Given the description of an element on the screen output the (x, y) to click on. 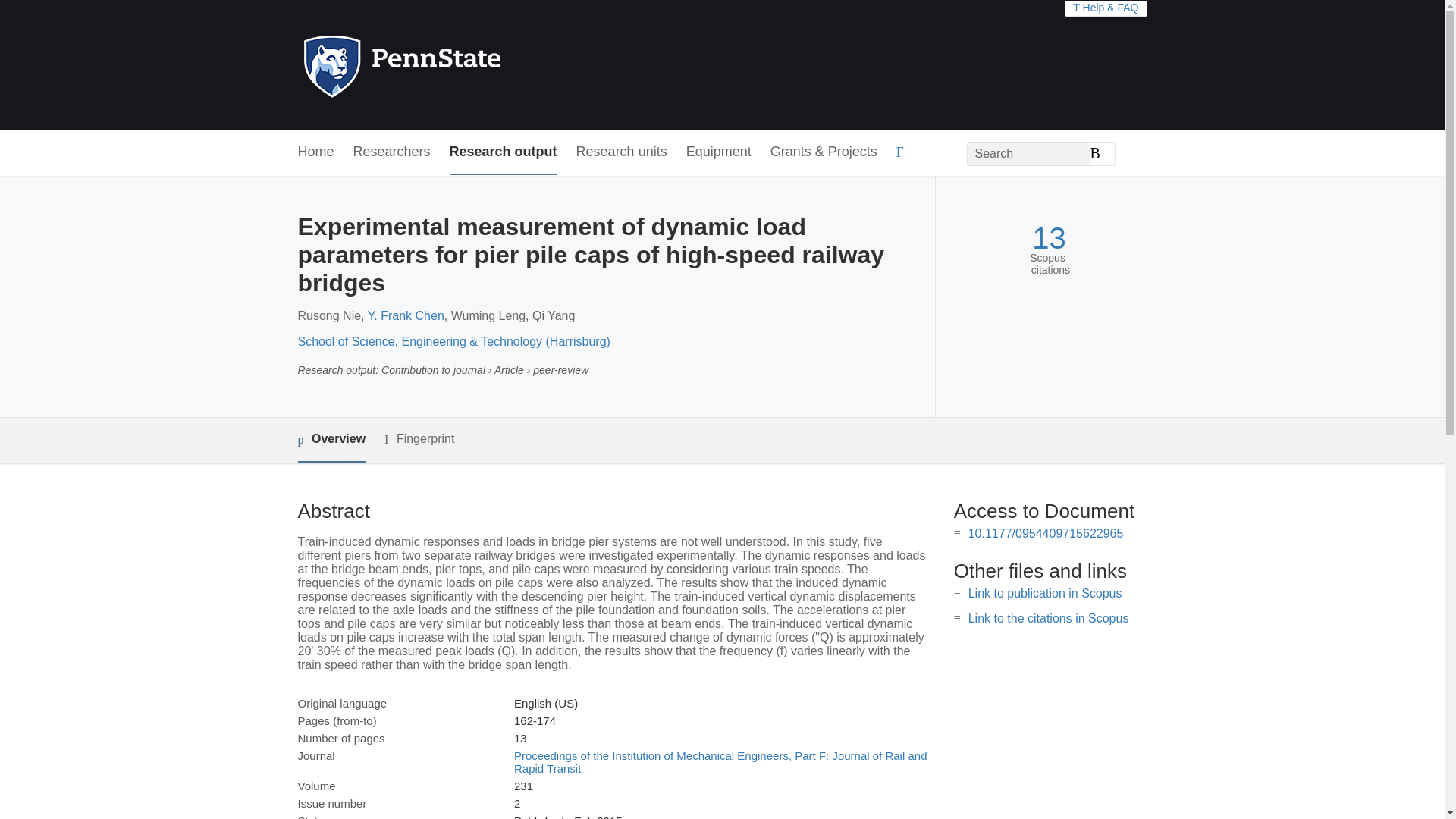
Link to the citations in Scopus (1048, 617)
Equipment (718, 152)
Research units (621, 152)
Y. Frank Chen (406, 315)
Fingerprint (419, 439)
Overview (331, 439)
Link to publication in Scopus (1045, 593)
Researchers (391, 152)
13 (1048, 238)
Research output (503, 152)
Penn State Home (467, 65)
